Given the description of an element on the screen output the (x, y) to click on. 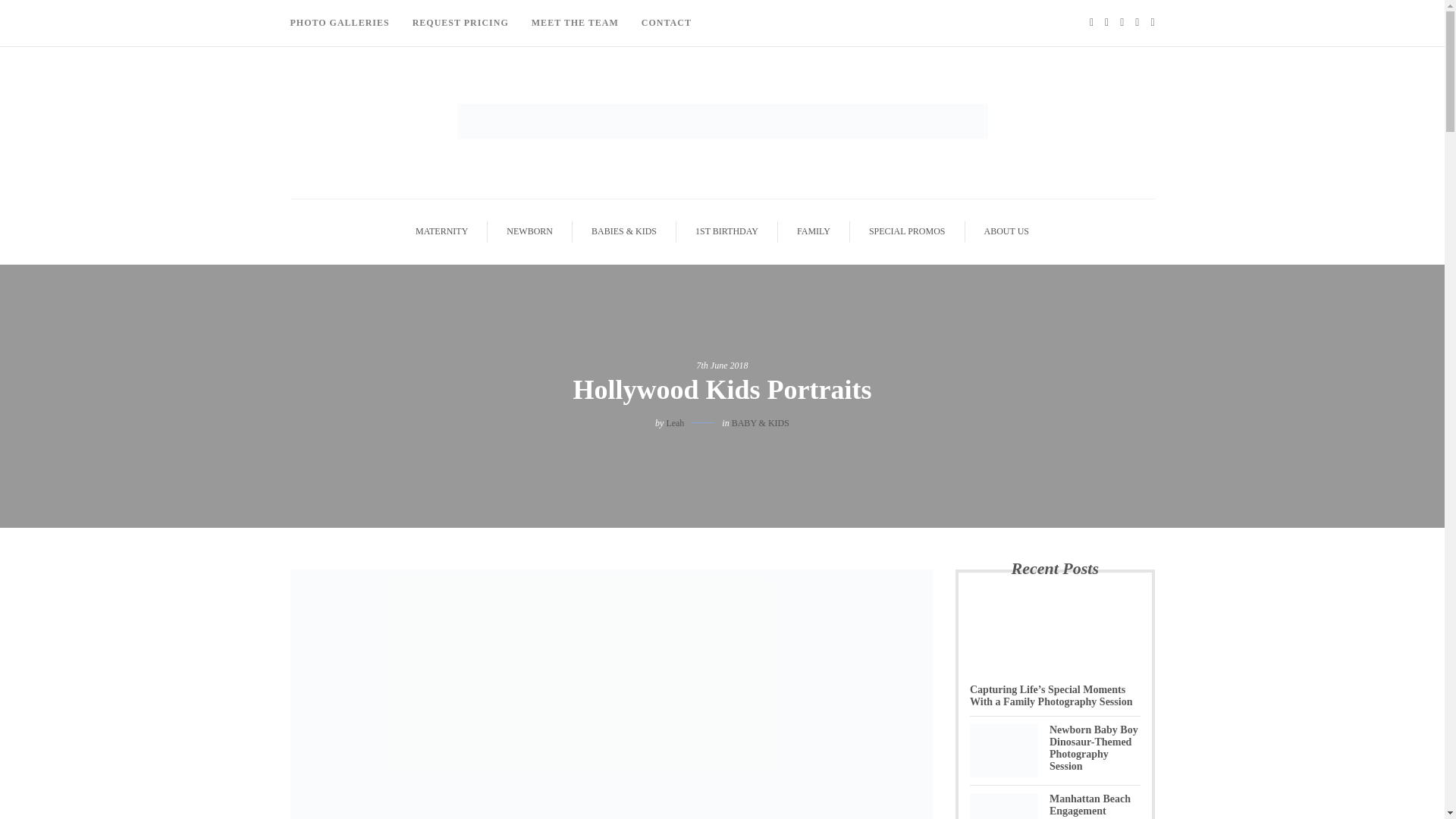
PHOTO GALLERIES (344, 22)
1ST BIRTHDAY (727, 231)
REQUEST PRICING (460, 22)
ABOUT US (1006, 231)
SPECIAL PROMOS (907, 231)
Posts by Leah (674, 422)
CONTACT (666, 22)
NEWBORN (529, 231)
MATERNITY (441, 231)
Leah (674, 422)
FAMILY (813, 231)
MEET THE TEAM (574, 22)
